Given the description of an element on the screen output the (x, y) to click on. 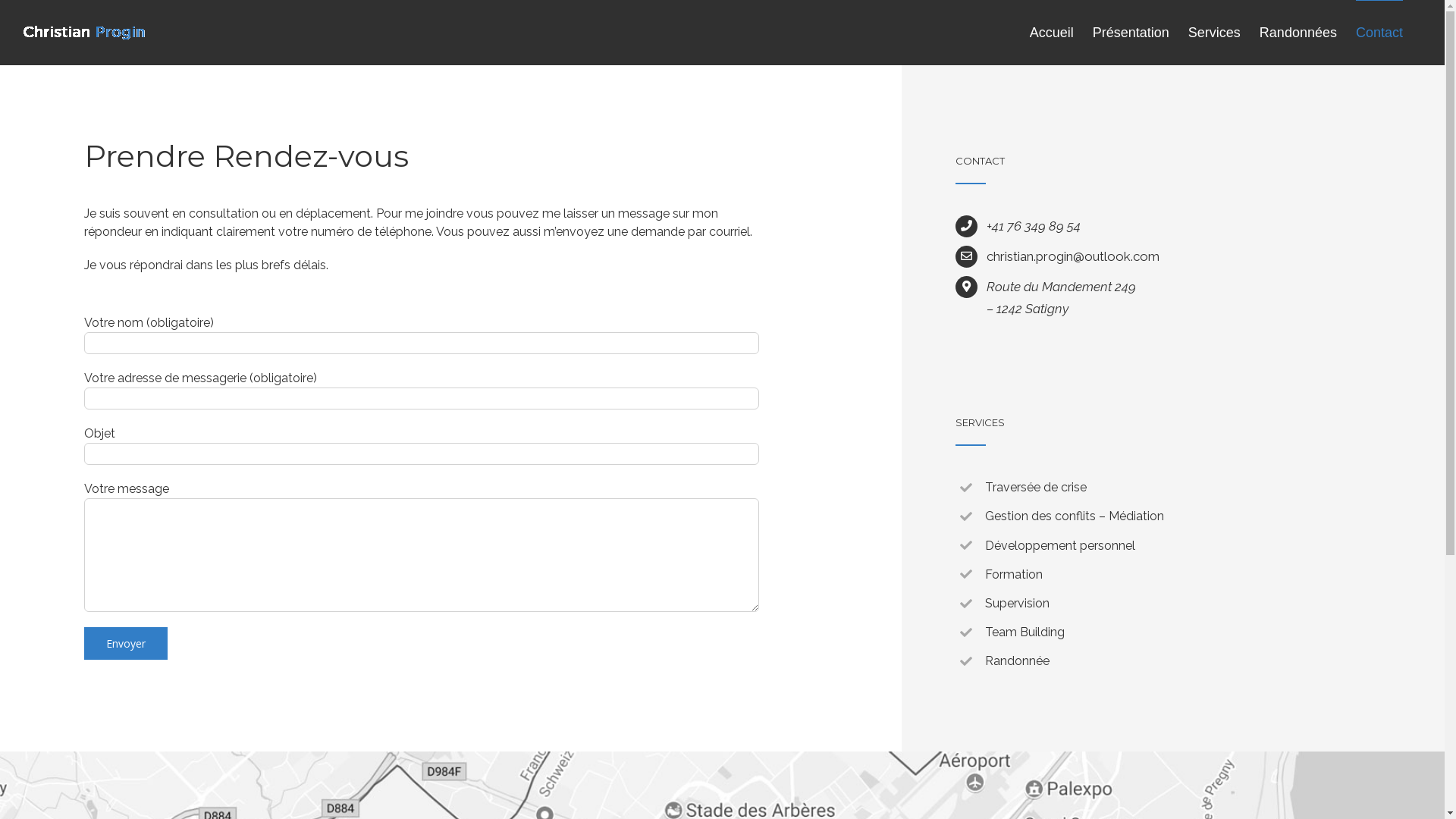
Contact Element type: text (1378, 31)
Accueil Element type: text (1051, 31)
Envoyer Element type: text (125, 643)
Services Element type: text (1214, 31)
